Given the description of an element on the screen output the (x, y) to click on. 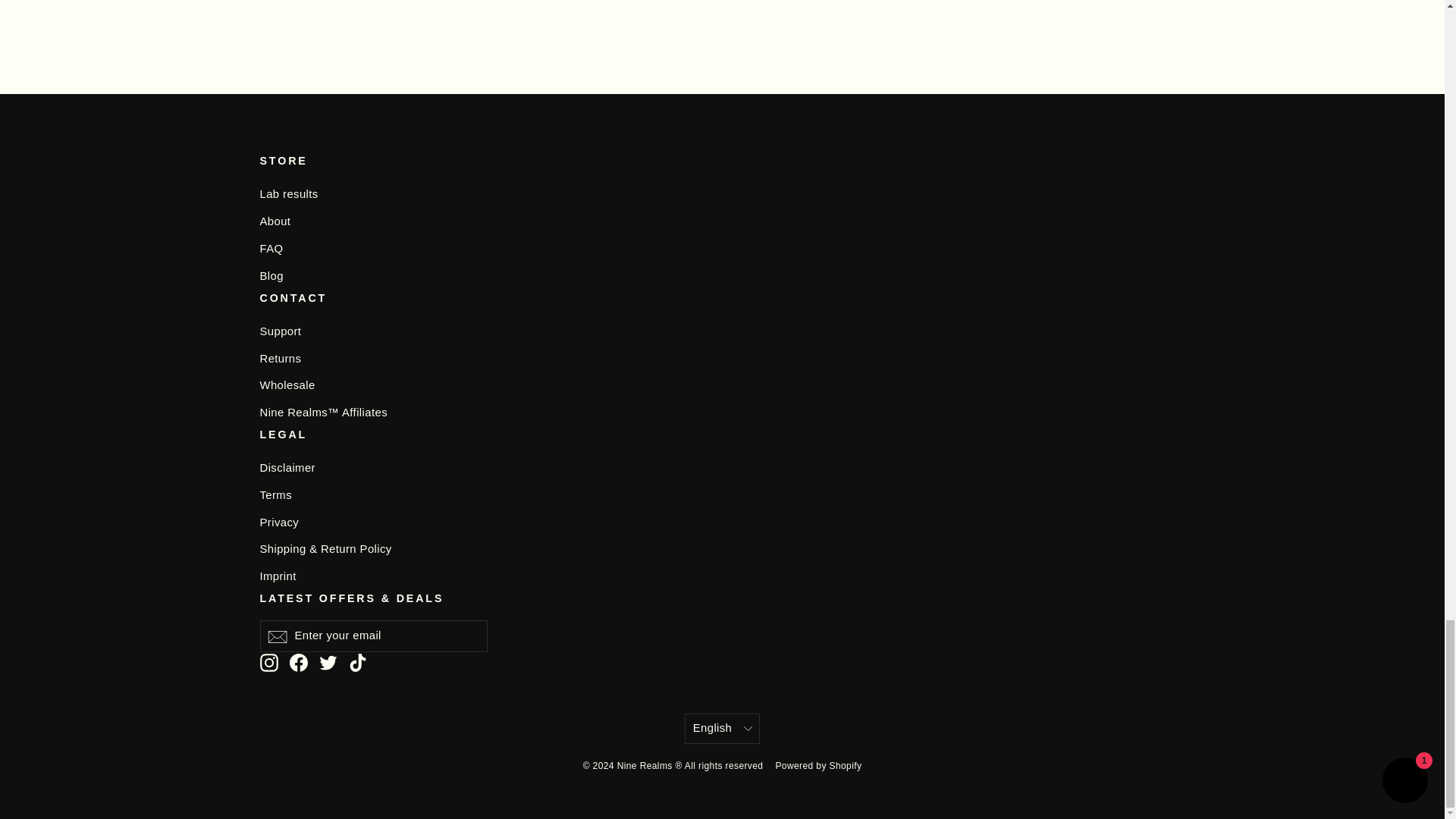
twitter (327, 662)
instagram (268, 662)
Nine Realms on Instagram (268, 661)
Nine Realms on Facebook (298, 661)
Nine Realms on TikTok (357, 661)
icon-email (276, 637)
Nine Realms on Twitter (327, 661)
